Given the description of an element on the screen output the (x, y) to click on. 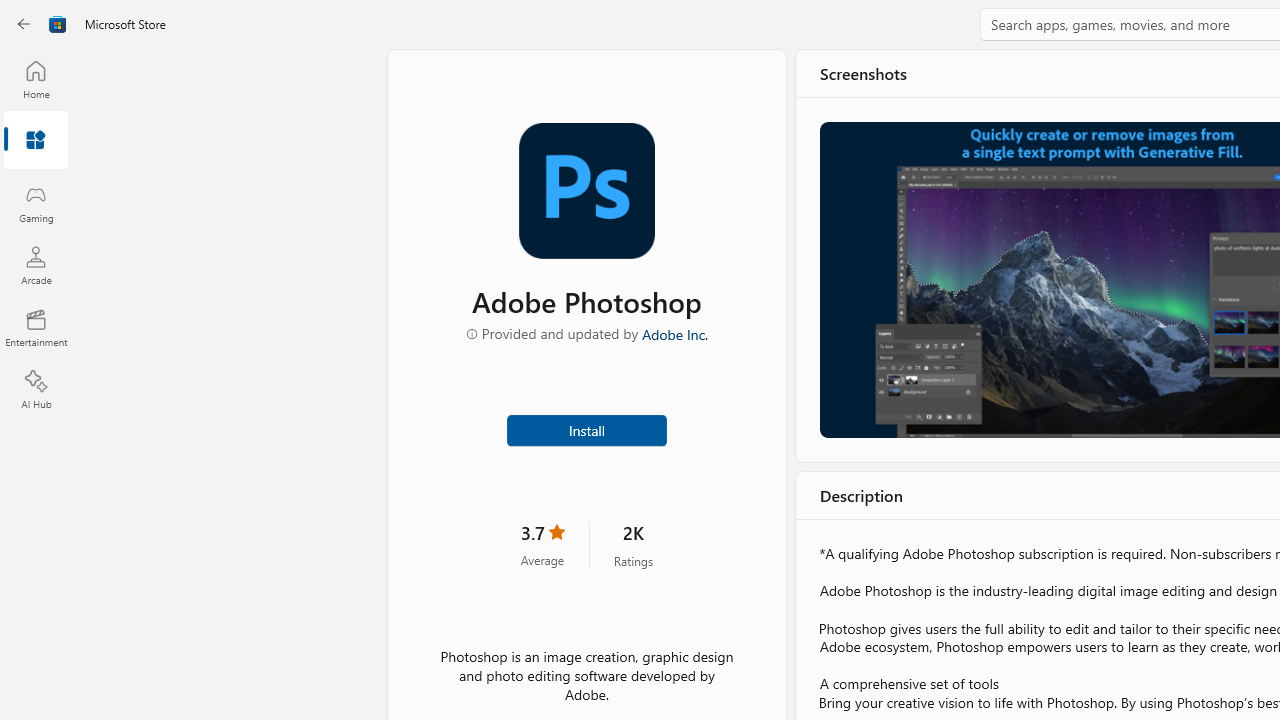
3.7 stars. Click to skip to ratings and reviews (541, 543)
Back (24, 24)
Install (586, 428)
Adobe Inc. (674, 333)
